Given the description of an element on the screen output the (x, y) to click on. 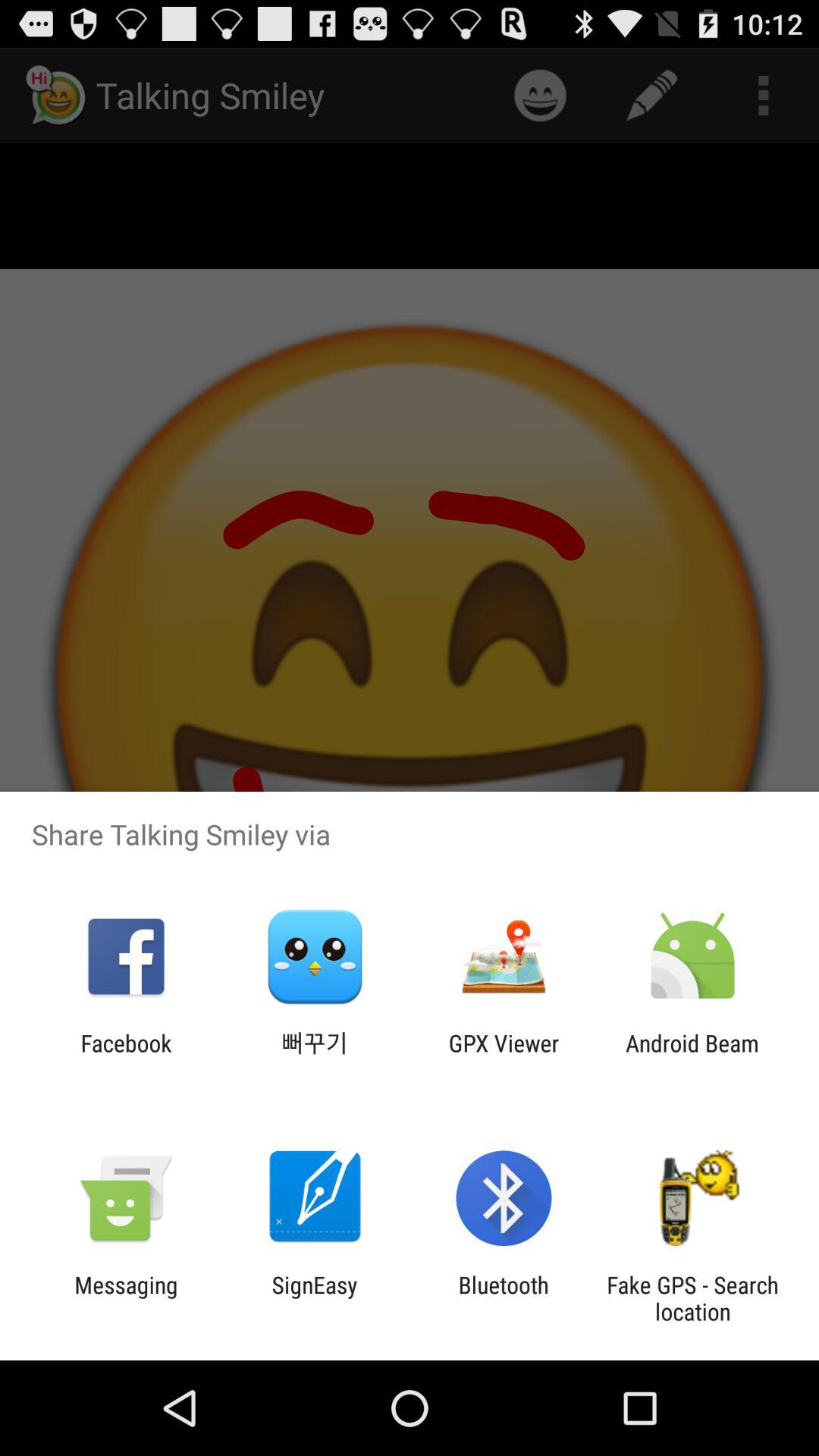
swipe until bluetooth app (503, 1298)
